Given the description of an element on the screen output the (x, y) to click on. 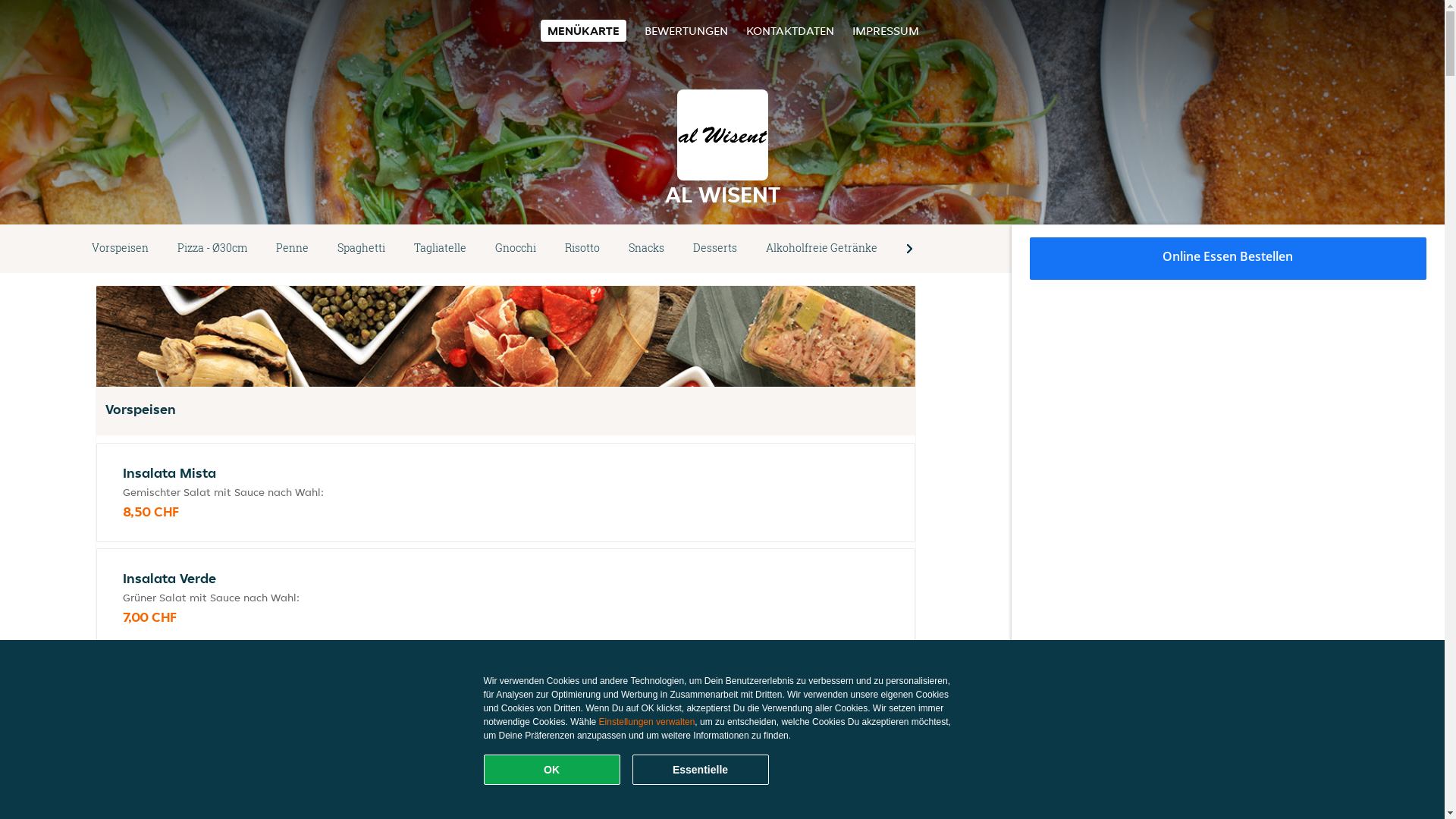
Desserts Element type: text (714, 248)
Penne Element type: text (292, 248)
Gnocchi Element type: text (515, 248)
Spaghetti Element type: text (361, 248)
Online Essen Bestellen Element type: text (1228, 258)
Vorspeisen Element type: text (120, 248)
BEWERTUNGEN Element type: text (686, 30)
Essentielle Element type: text (700, 769)
Snacks Element type: text (646, 248)
Tagliatelle Element type: text (439, 248)
KONTAKTDATEN Element type: text (790, 30)
Risotto Element type: text (582, 248)
IMPRESSUM Element type: text (885, 30)
Einstellungen verwalten Element type: text (647, 721)
OK Element type: text (551, 769)
